Given the description of an element on the screen output the (x, y) to click on. 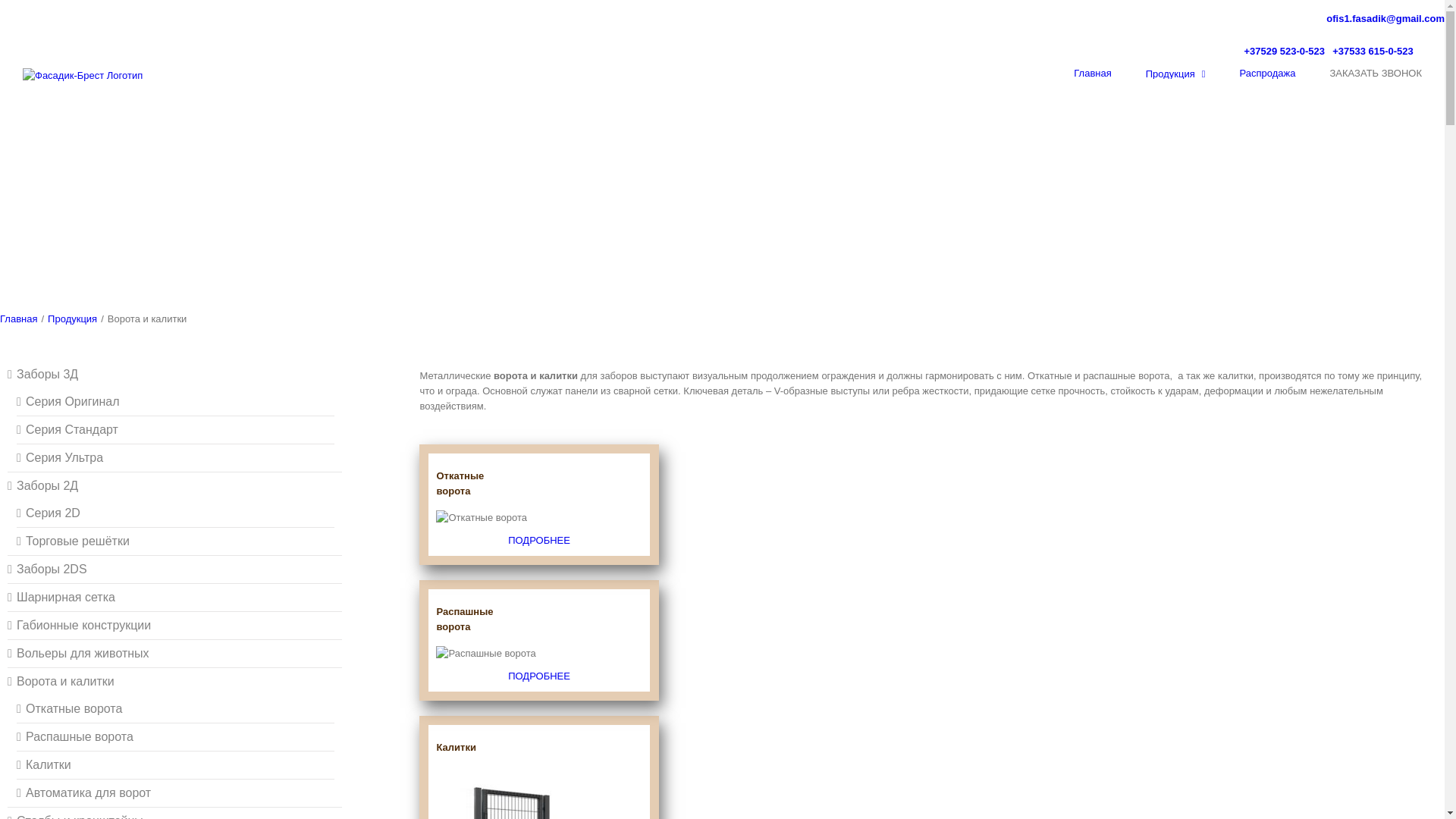
ofis1.fasadik@gmail.com Element type: text (1385, 18)
+37529 523-0-523 Element type: text (1282, 50)
+37533 615-0-523 Element type: text (1371, 50)
